Given the description of an element on the screen output the (x, y) to click on. 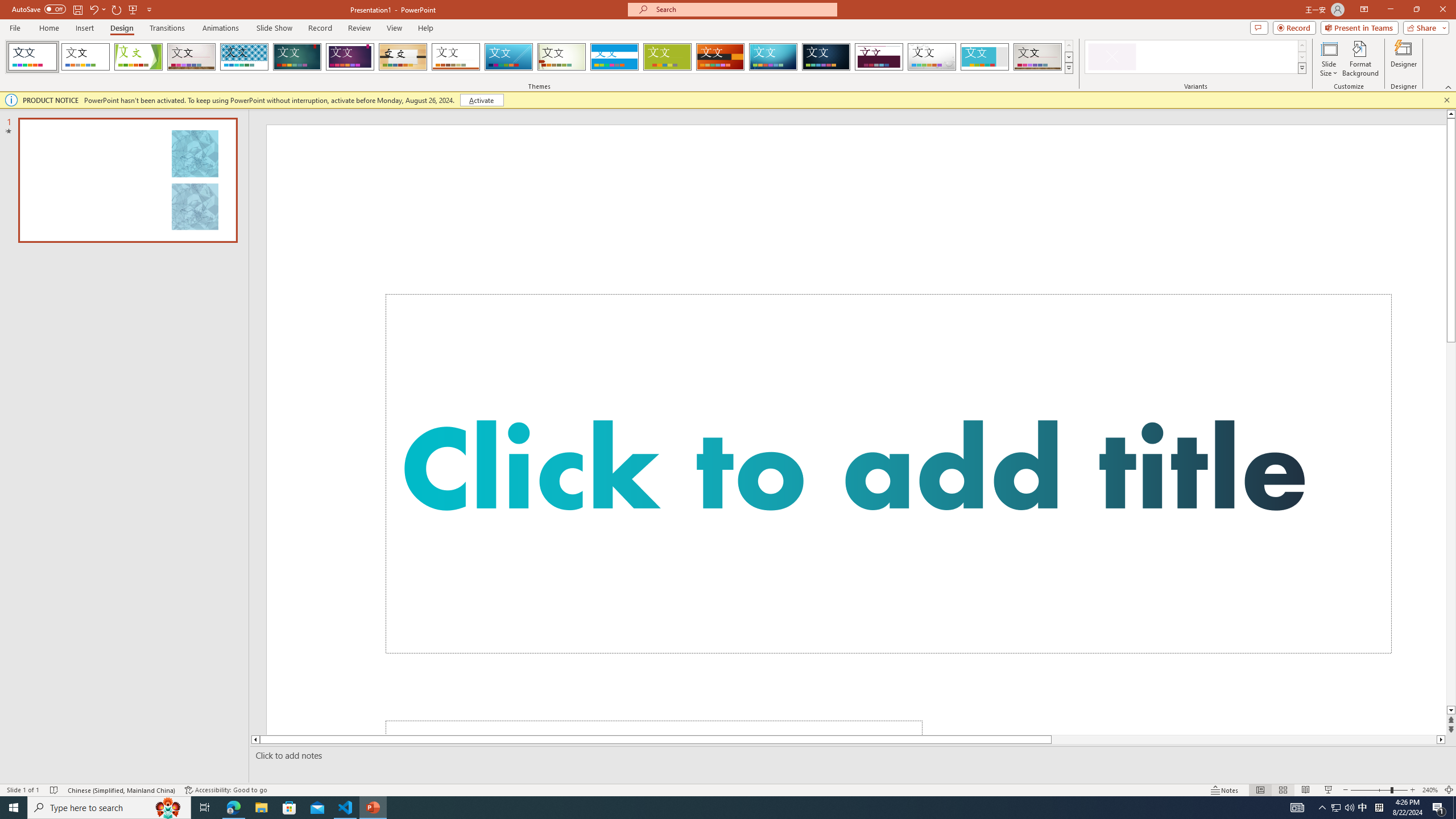
FadeVTI (32, 56)
Present in Teams (1359, 27)
Row Down (1301, 56)
Transitions (167, 28)
Help (425, 28)
Spell Check No Errors (54, 790)
Slide Notes (849, 755)
Variants (1301, 67)
Notes  (1225, 790)
File Tab (15, 27)
From Beginning (133, 9)
Gallery (1037, 56)
Basis (667, 56)
Ion (296, 56)
Comments (1259, 27)
